Given the description of an element on the screen output the (x, y) to click on. 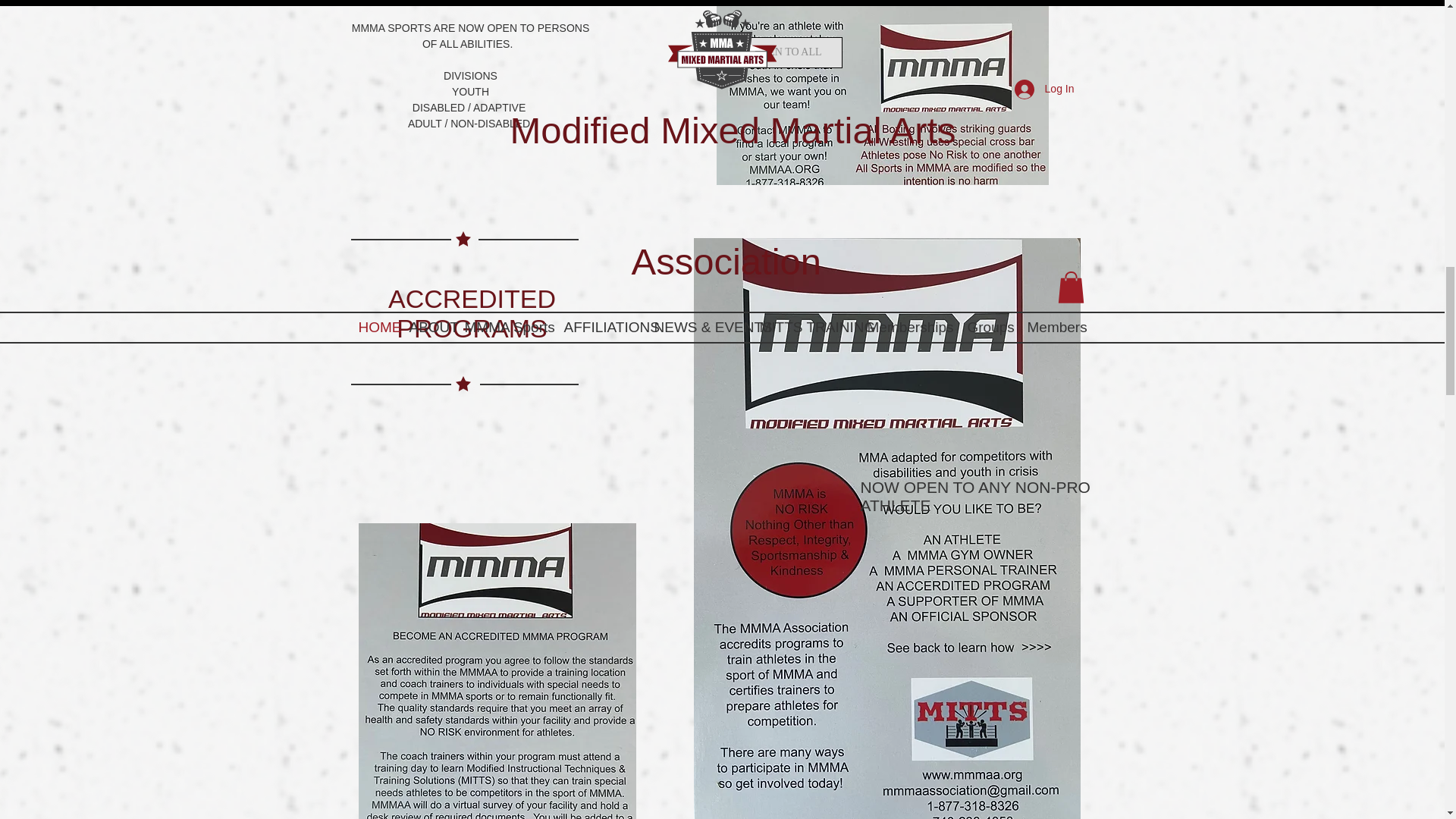
OPEN TO ALL (787, 51)
